Given the description of an element on the screen output the (x, y) to click on. 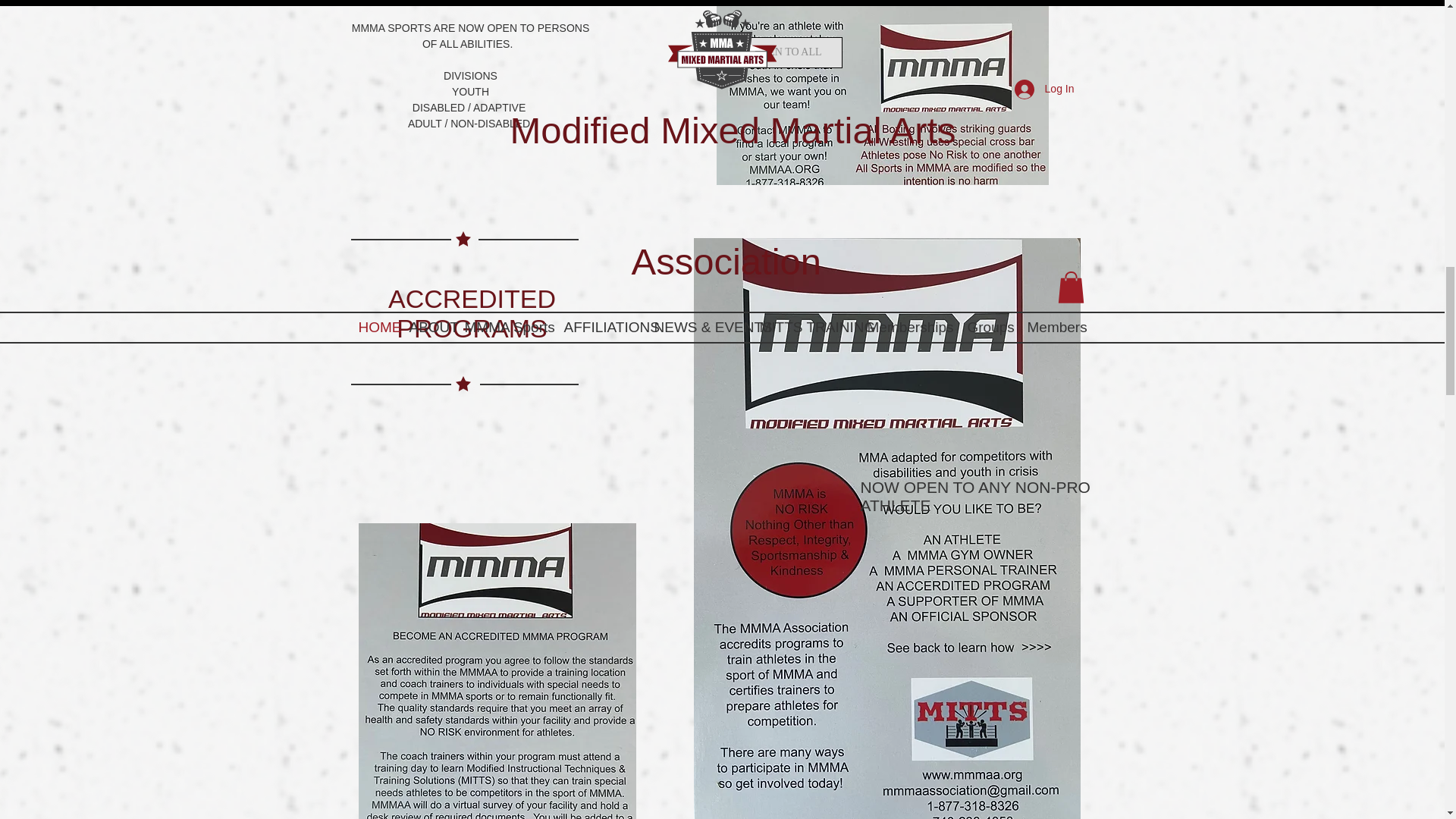
OPEN TO ALL (787, 51)
